Given the description of an element on the screen output the (x, y) to click on. 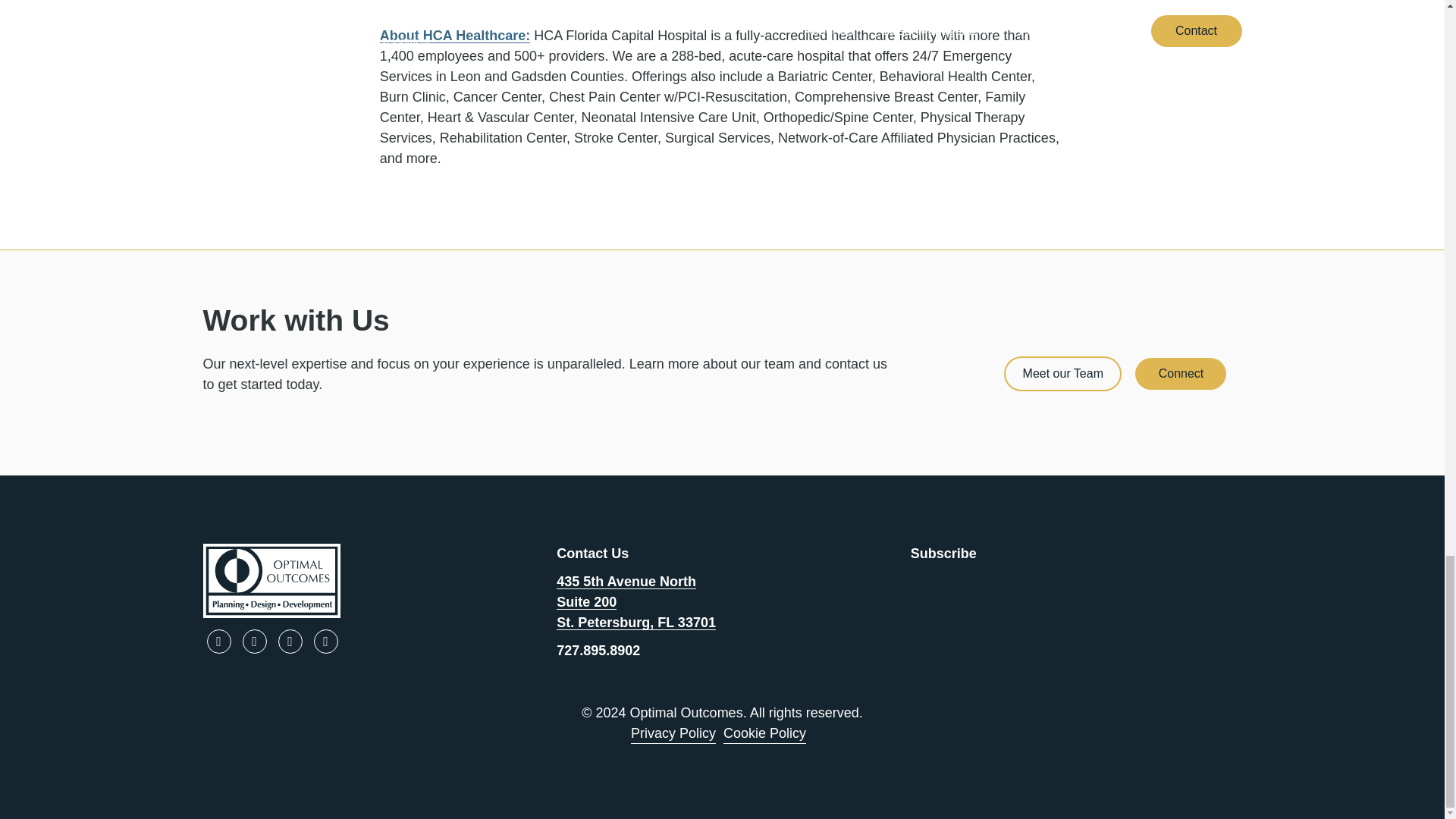
Twitter (290, 641)
About HCA Healthcare: (454, 35)
Optimal Outcomes (368, 580)
Facebook (218, 641)
Instagram (325, 641)
Connect (1180, 373)
Meet our Team (1062, 373)
LinkedIn (254, 641)
